Given the description of an element on the screen output the (x, y) to click on. 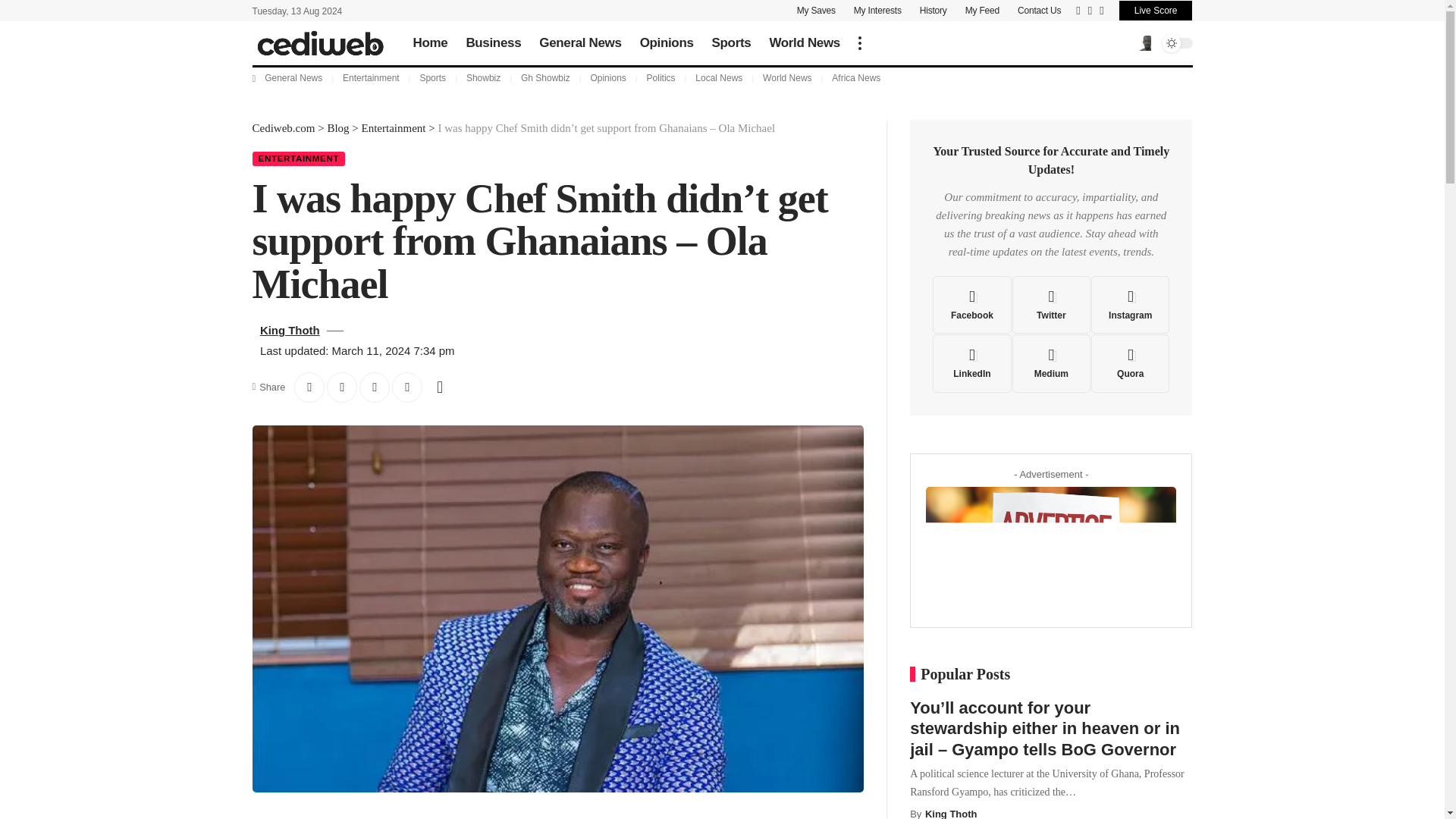
Go to the Entertainment Category archives. (393, 128)
Gh Showbiz (545, 78)
Contact Us (1039, 10)
Sports (432, 78)
Home (430, 42)
History (933, 10)
Opinions (607, 78)
Sports (731, 42)
Live Score (1155, 10)
General News (292, 78)
